Given the description of an element on the screen output the (x, y) to click on. 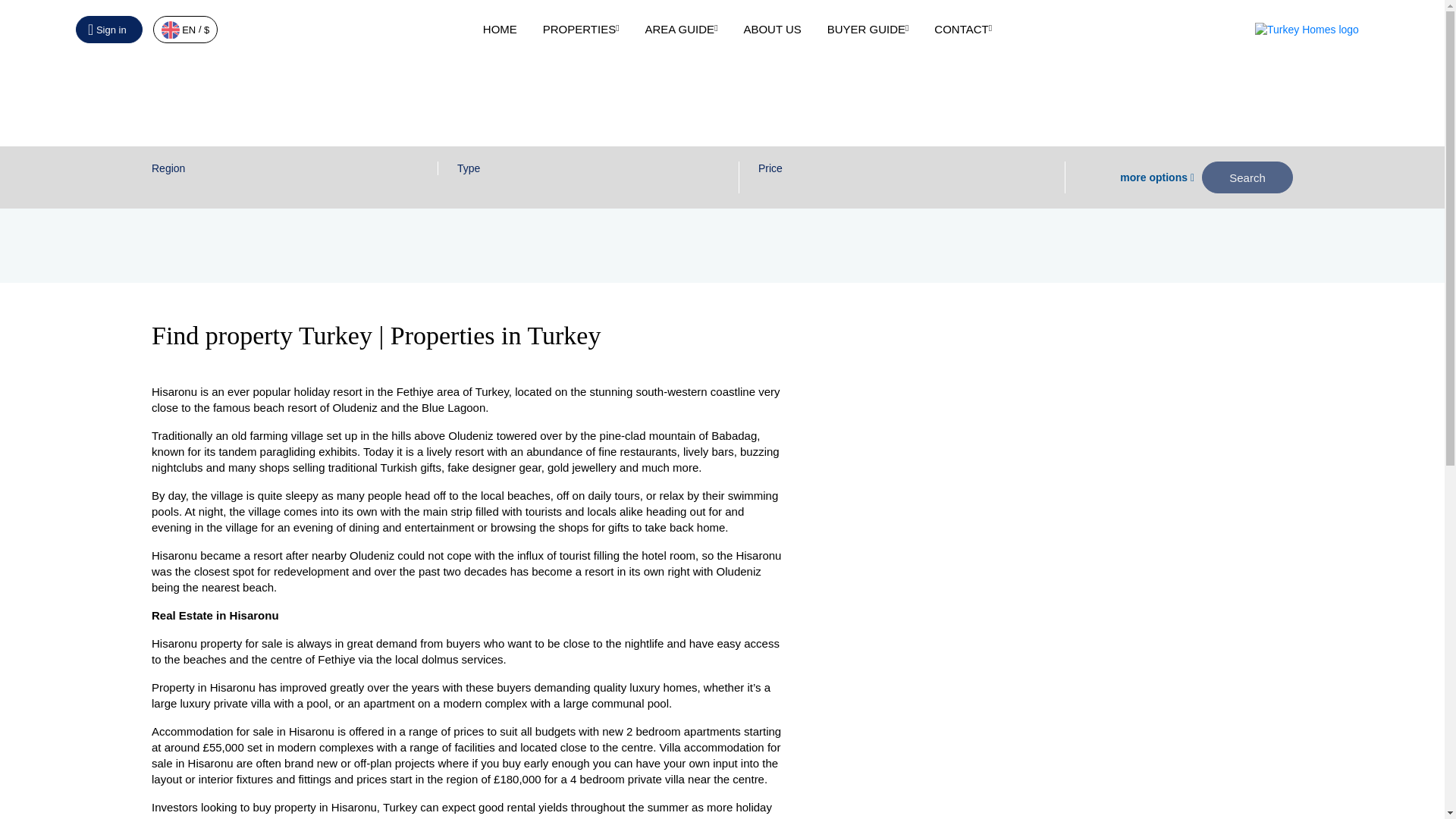
HOME (499, 28)
BUYER GUIDE (867, 28)
Search (1247, 177)
ABOUT US (771, 28)
Sign in (108, 29)
AREA GUIDE (681, 28)
PROPERTIES (581, 28)
